Given the description of an element on the screen output the (x, y) to click on. 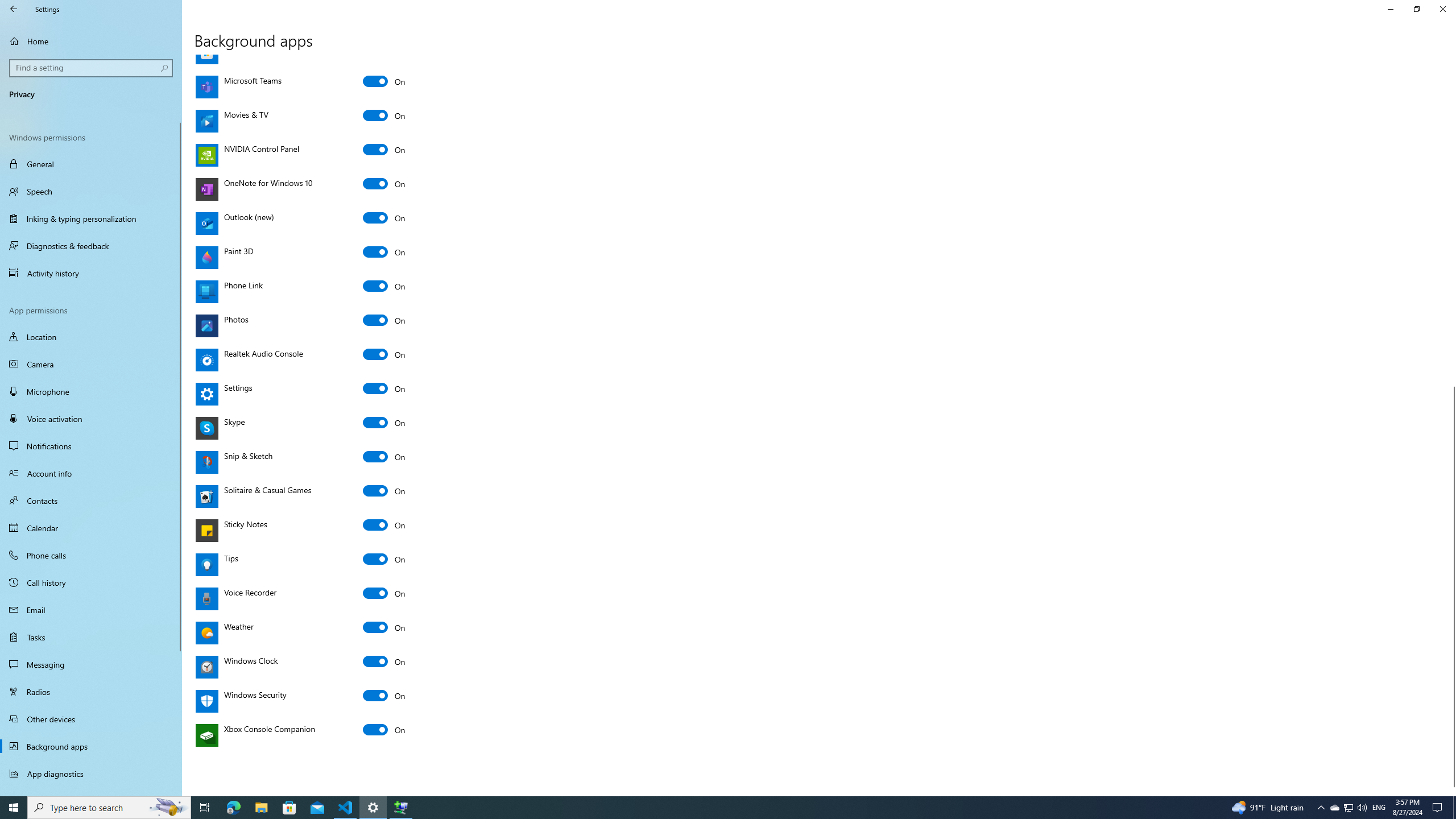
File Explorer (261, 807)
Snip & Sketch (384, 456)
Settings - 1 running window (373, 807)
Activity history (91, 272)
Automatic file downloads (1333, 807)
Windows Clock (91, 791)
Notification Chevron (384, 661)
Contacts (1347, 807)
Weather (1320, 807)
Minimize Settings (91, 500)
App diagnostics (384, 627)
Home (1390, 9)
